Given the description of an element on the screen output the (x, y) to click on. 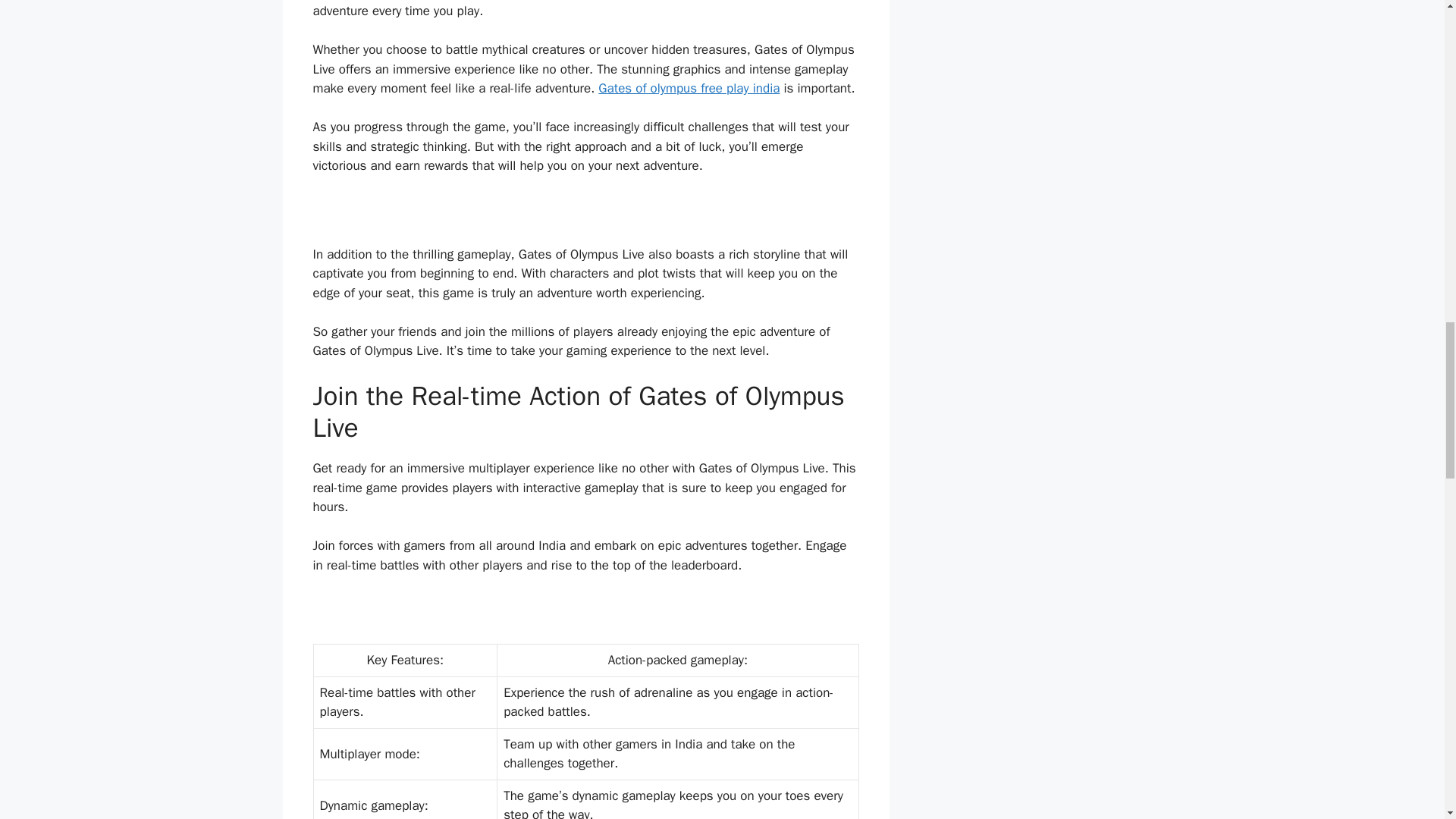
Gates of olympus free play india (688, 88)
